Given the description of an element on the screen output the (x, y) to click on. 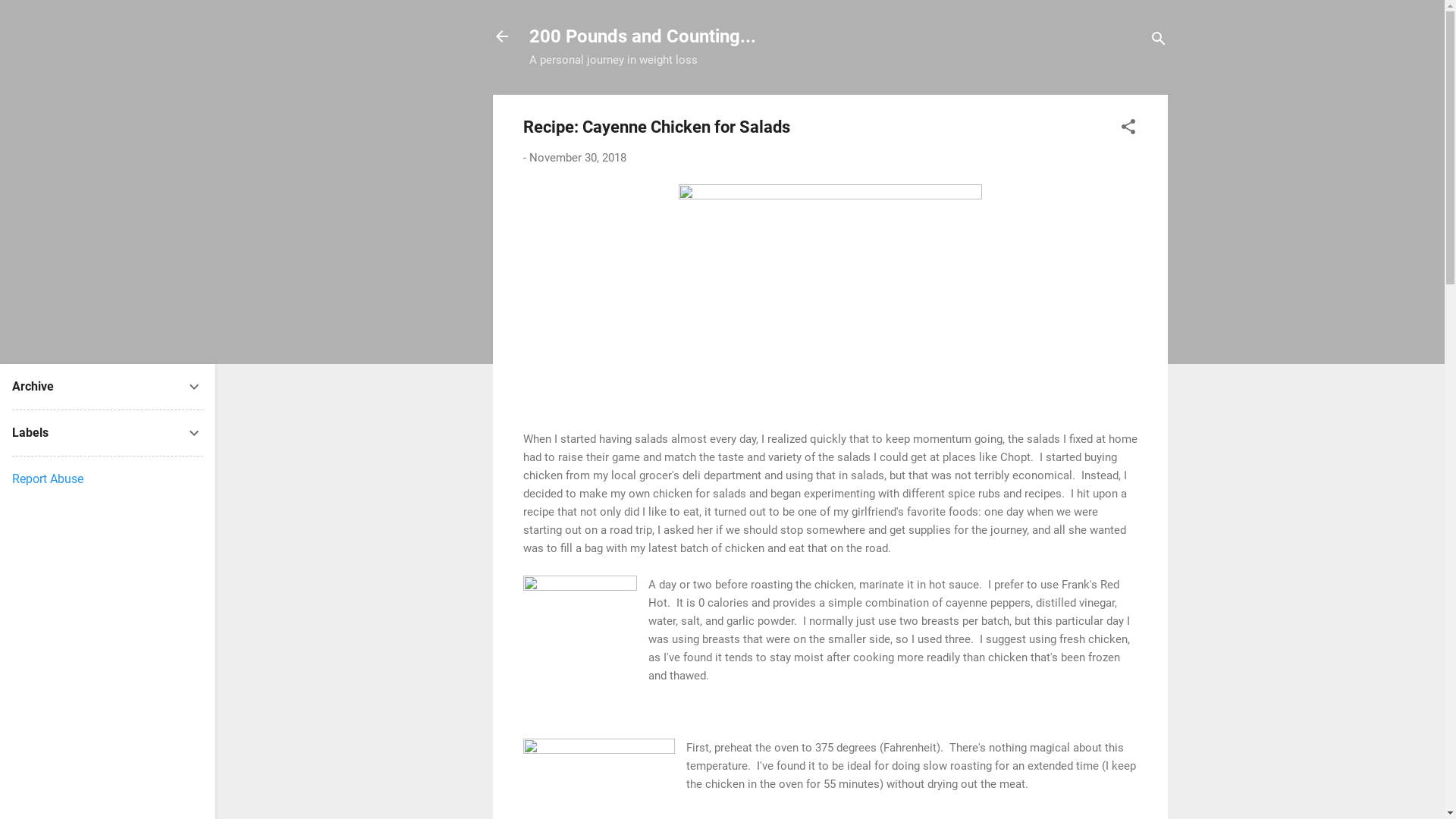
Report Abuse Element type: text (47, 478)
Search Element type: text (28, 18)
200 Pounds and Counting... Element type: text (642, 36)
November 30, 2018 Element type: text (577, 157)
